Given the description of an element on the screen output the (x, y) to click on. 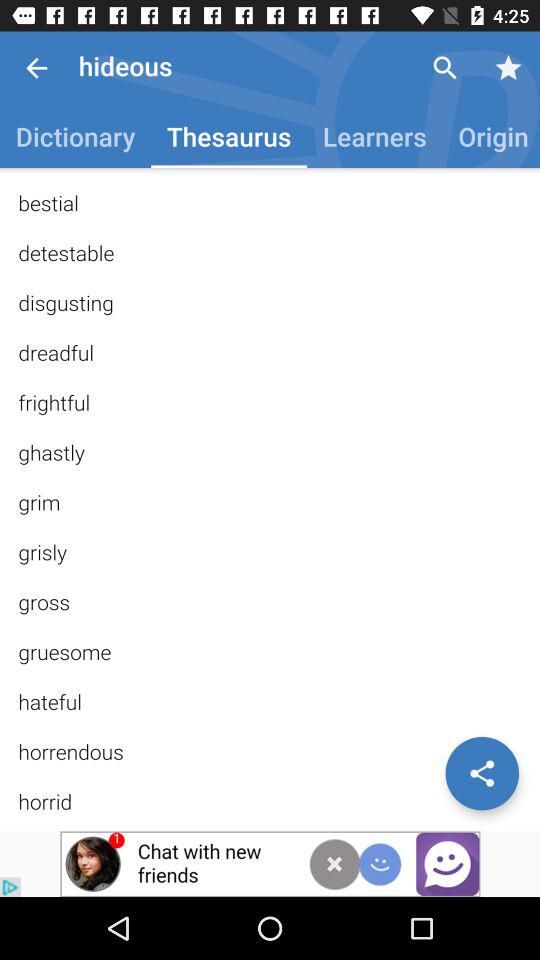
sharing options (482, 773)
